Given the description of an element on the screen output the (x, y) to click on. 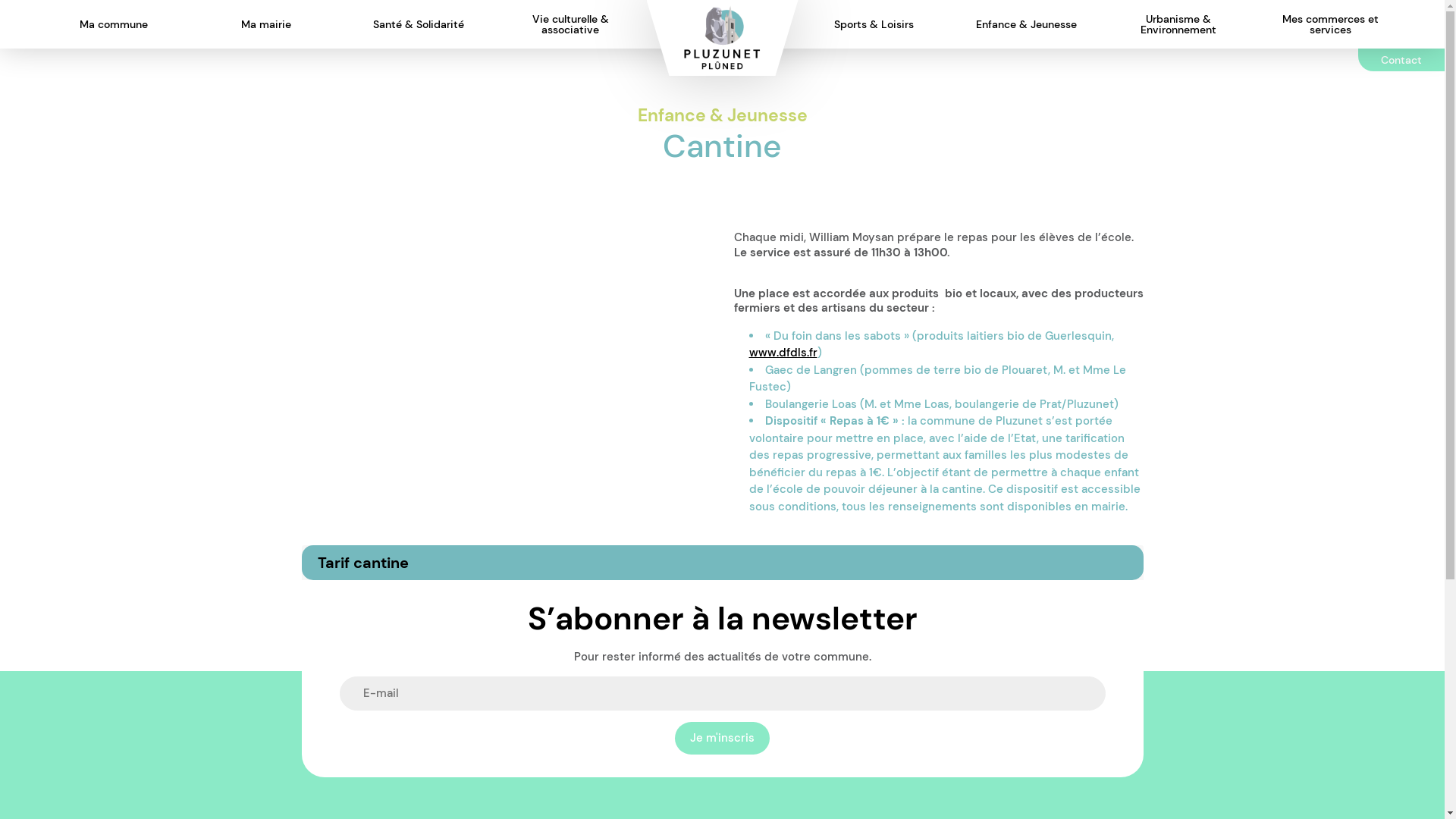
www.dfdls.fr Element type: text (783, 352)
Je m'inscris Element type: text (721, 737)
Ma mairie Element type: text (265, 23)
Sports & Loisirs Element type: text (873, 23)
Enfance & Jeunesse Element type: text (1026, 23)
Mes commerces et services Element type: text (1330, 23)
Tarif cantine Element type: text (722, 562)
Contact Element type: text (1401, 59)
Urbanisme & Environnement Element type: text (1178, 23)
Vie culturelle & associative Element type: text (570, 23)
Ma commune Element type: text (113, 23)
